Given the description of an element on the screen output the (x, y) to click on. 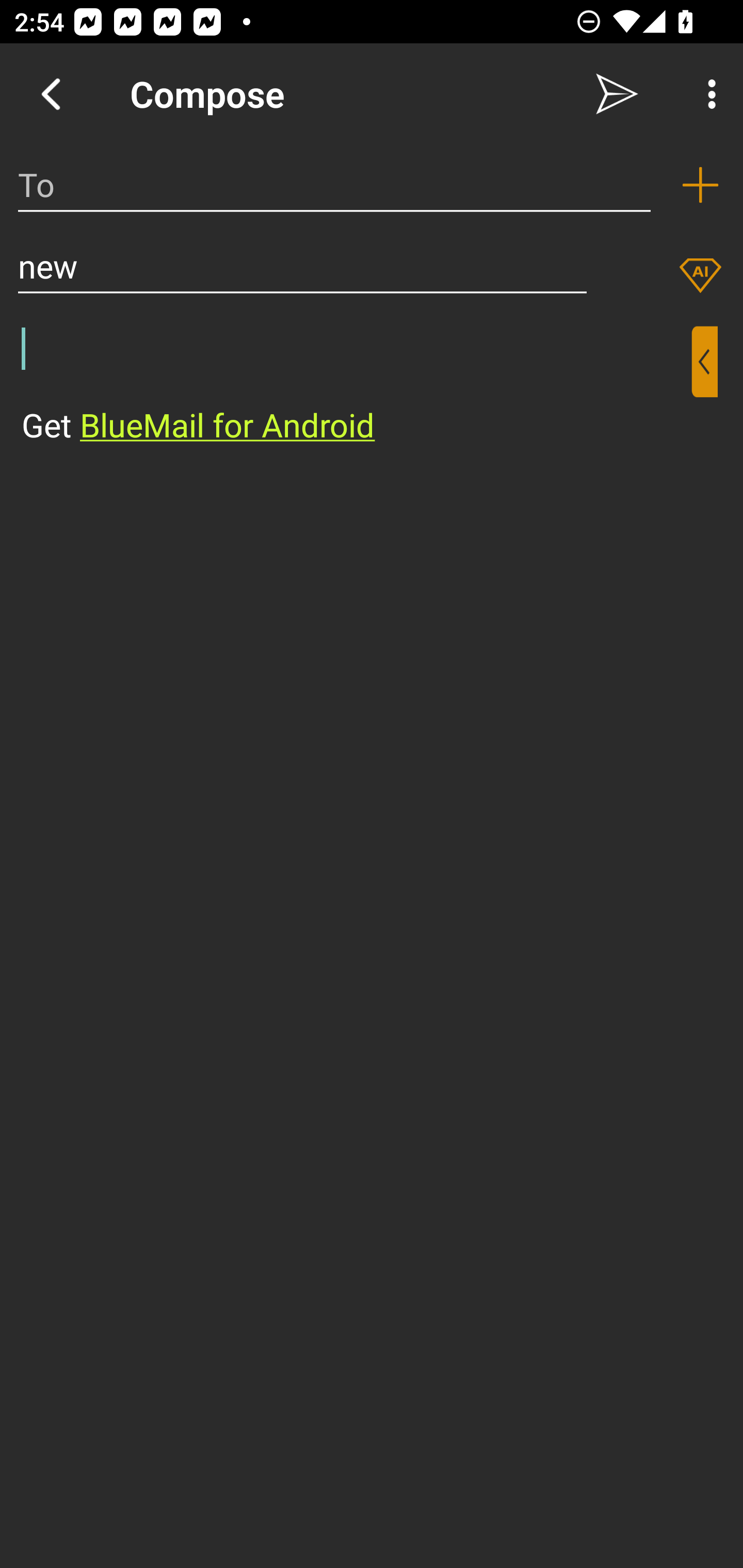
Navigate up (50, 93)
Send (616, 93)
More Options (706, 93)
To (334, 184)
Add recipient (To) (699, 184)
new (302, 266)


⁣Get BlueMail for Android ​ (355, 386)
